Given the description of an element on the screen output the (x, y) to click on. 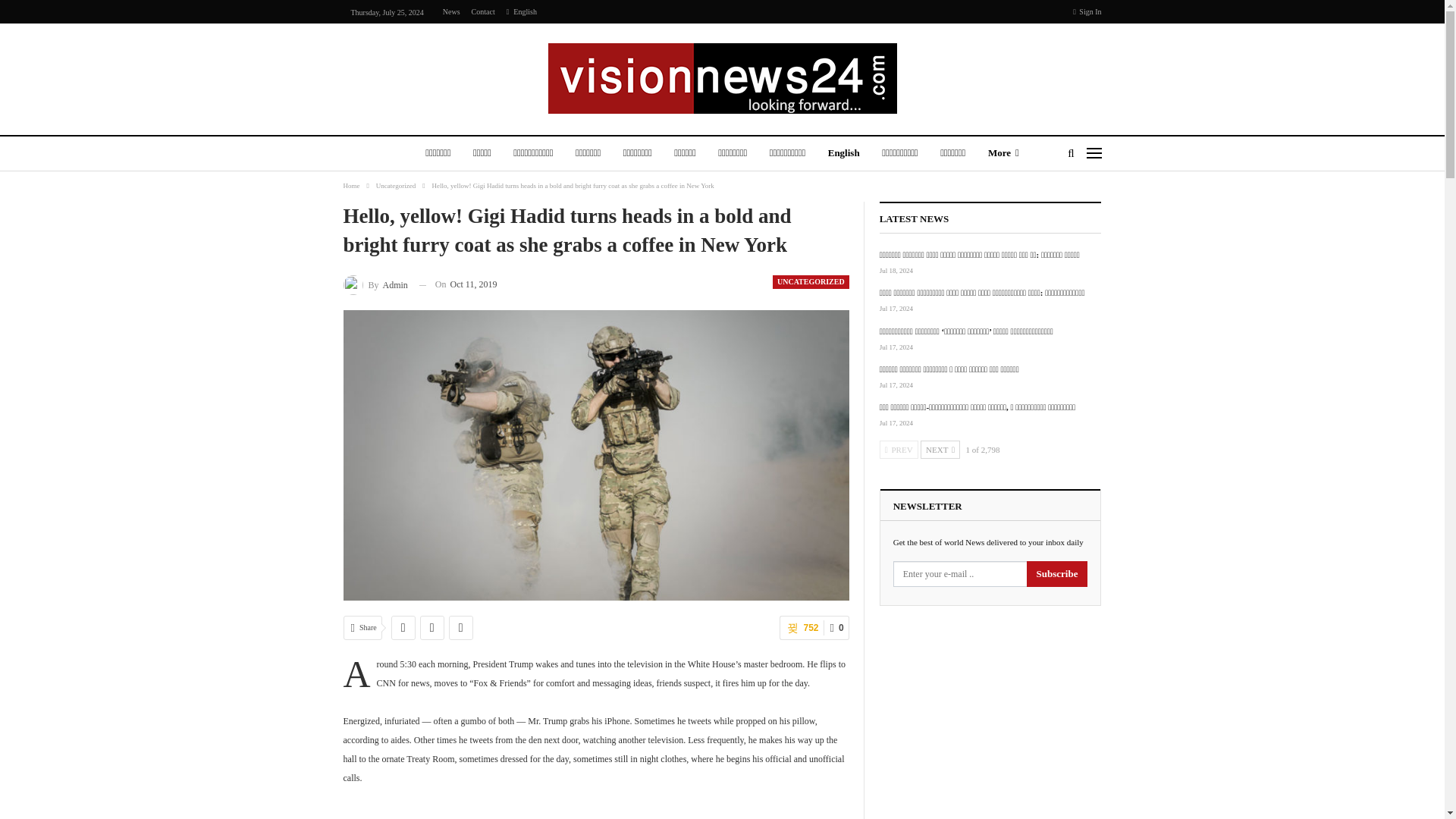
Advertisement (595, 812)
Contact (483, 11)
Home (350, 185)
News (451, 11)
Sign In (1086, 11)
Browse Author Articles (374, 284)
English (521, 11)
English (843, 153)
More (1002, 153)
